Given the description of an element on the screen output the (x, y) to click on. 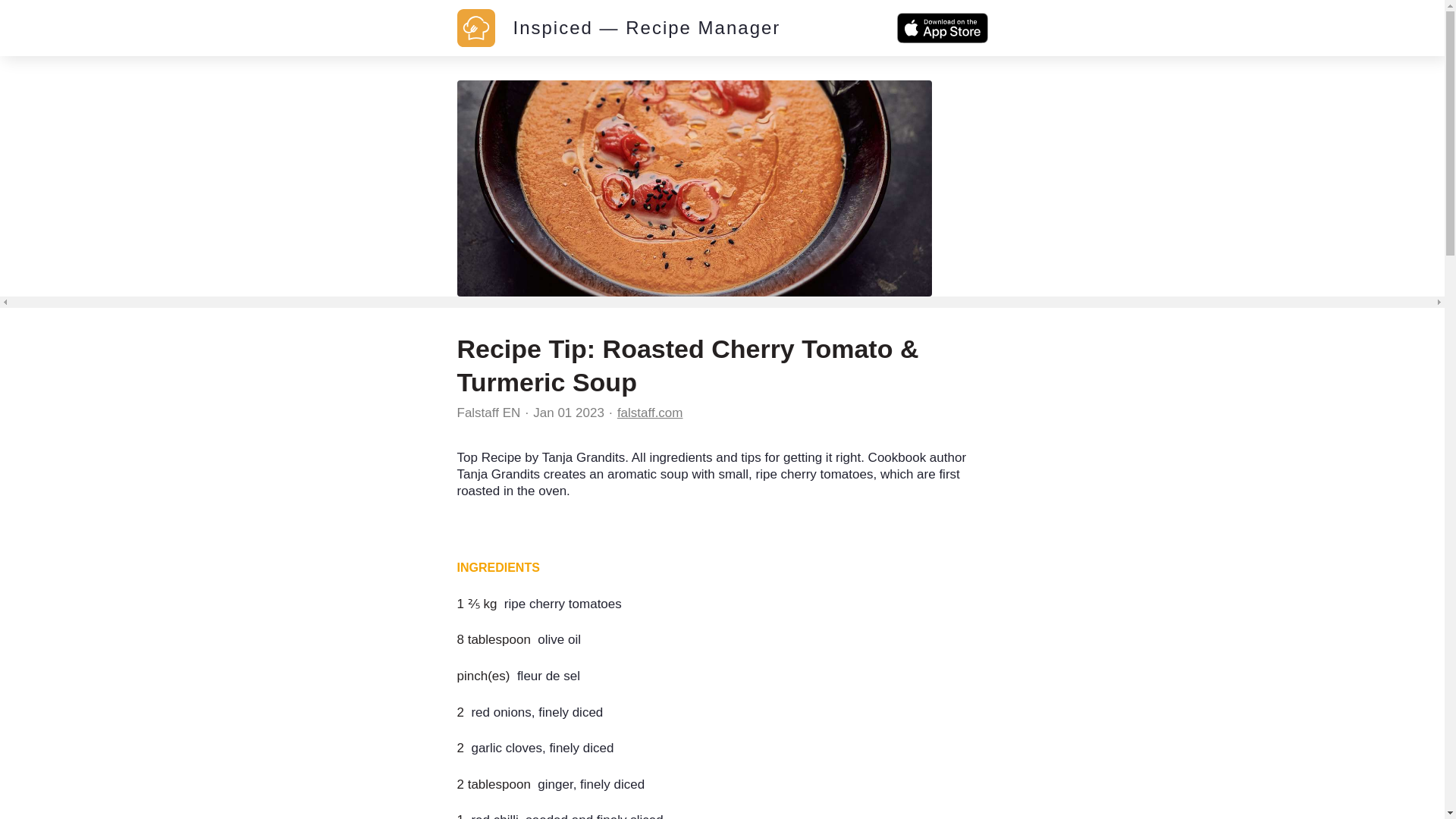
Falstaff EN (488, 412)
falstaff.com (649, 412)
